Given the description of an element on the screen output the (x, y) to click on. 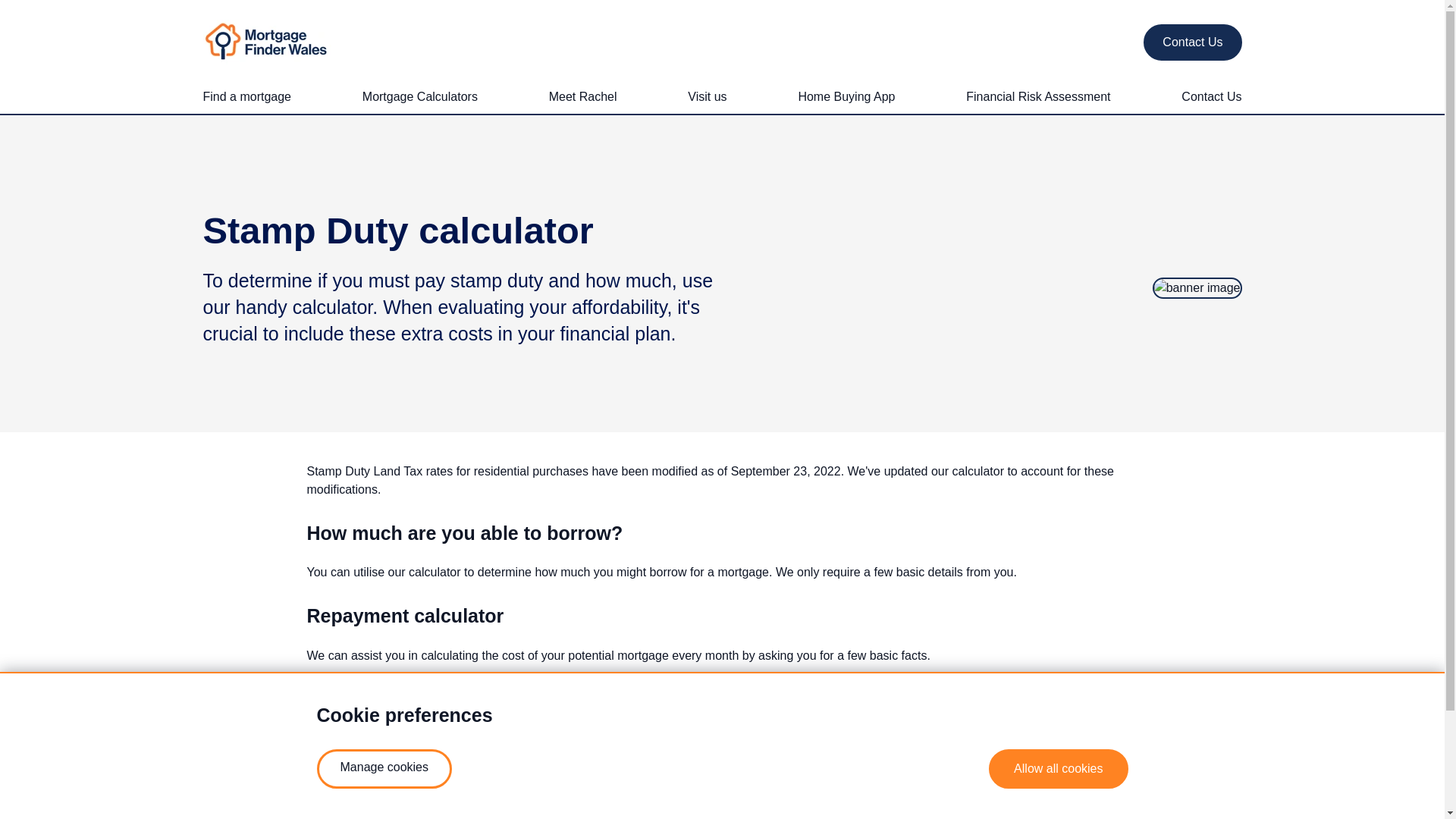
Meet Rachel (582, 96)
Allow all cookies (1057, 768)
Contact Us (1210, 96)
Manage cookies (384, 768)
Mortgage Calculators (419, 96)
Home Buying App (846, 96)
Financial Risk Assessment (1037, 96)
Visit us (706, 96)
Find a mortgage (247, 96)
Contact Us (1191, 42)
